Given the description of an element on the screen output the (x, y) to click on. 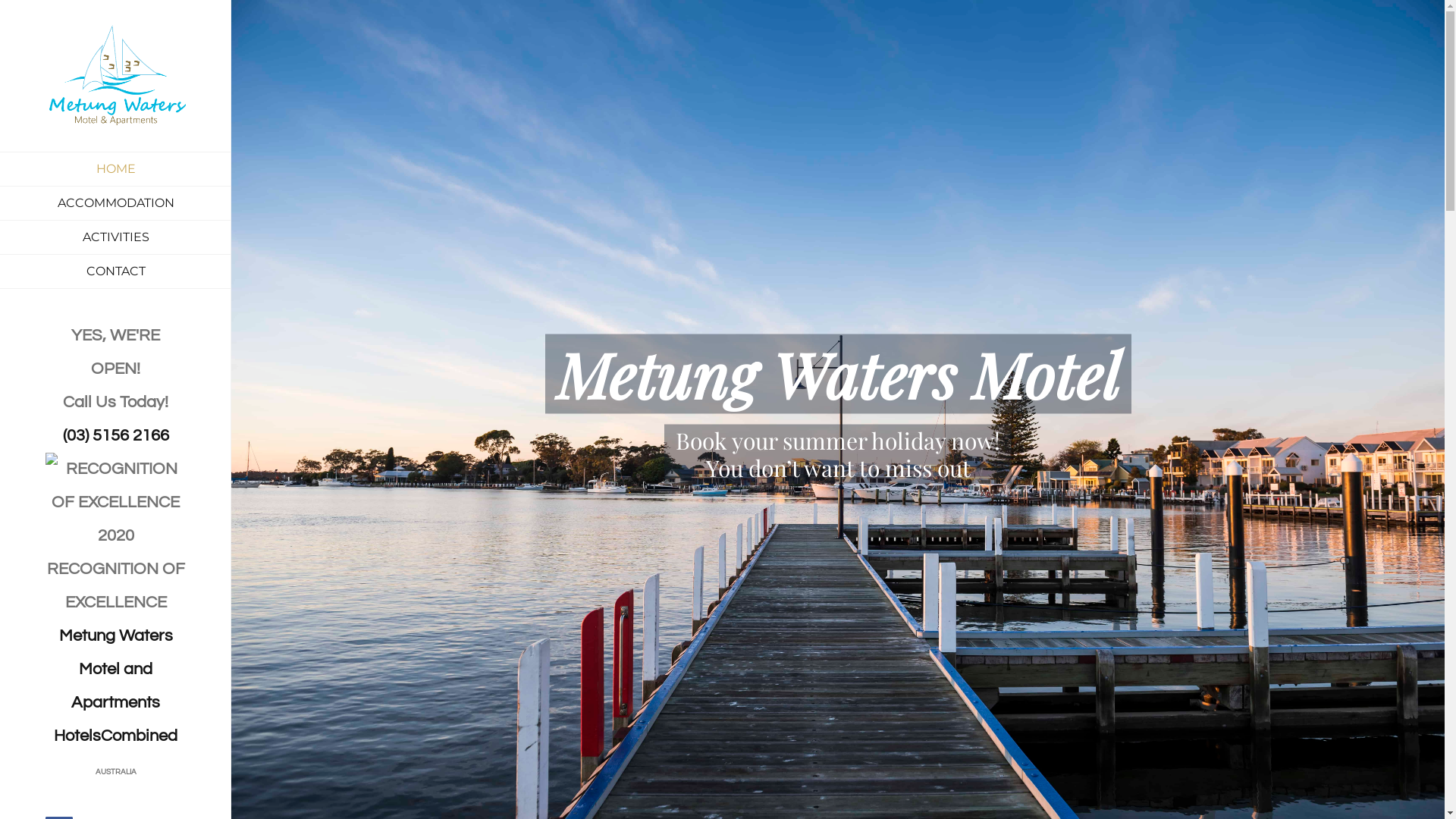
Metung Waters Motel and Apartments Element type: text (115, 669)
HotelsCombined Element type: text (115, 735)
CONTACT Element type: text (115, 271)
(03) 5156 2166 Element type: text (115, 435)
RECOGNITION OF EXCELLENCE Element type: hover (115, 485)
ACCOMMODATION Element type: text (115, 203)
HOME Element type: text (115, 168)
ACTIVITIES Element type: text (115, 237)
